Given the description of an element on the screen output the (x, y) to click on. 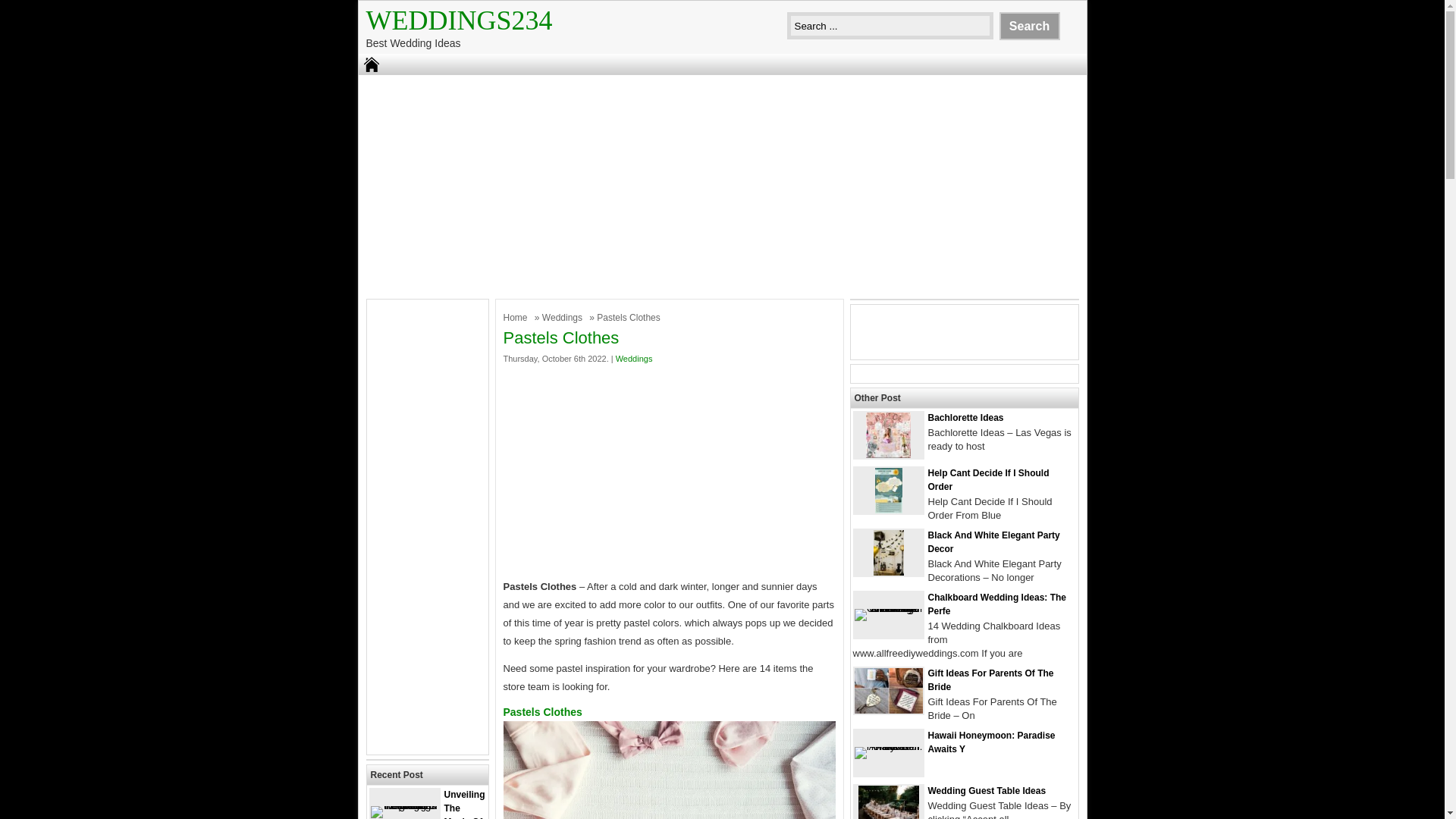
Weddings (633, 358)
Search ...  (889, 25)
Advertisement (426, 526)
Search (1028, 26)
Weddings234 (458, 20)
Pastels Clothes (669, 770)
Search (1028, 26)
Advertisement (669, 471)
Home (517, 317)
Weddings (563, 317)
WEDDINGS234 (458, 20)
Weddings (563, 317)
Unveiling The Magic Of June Wedding (426, 804)
